Given the description of an element on the screen output the (x, y) to click on. 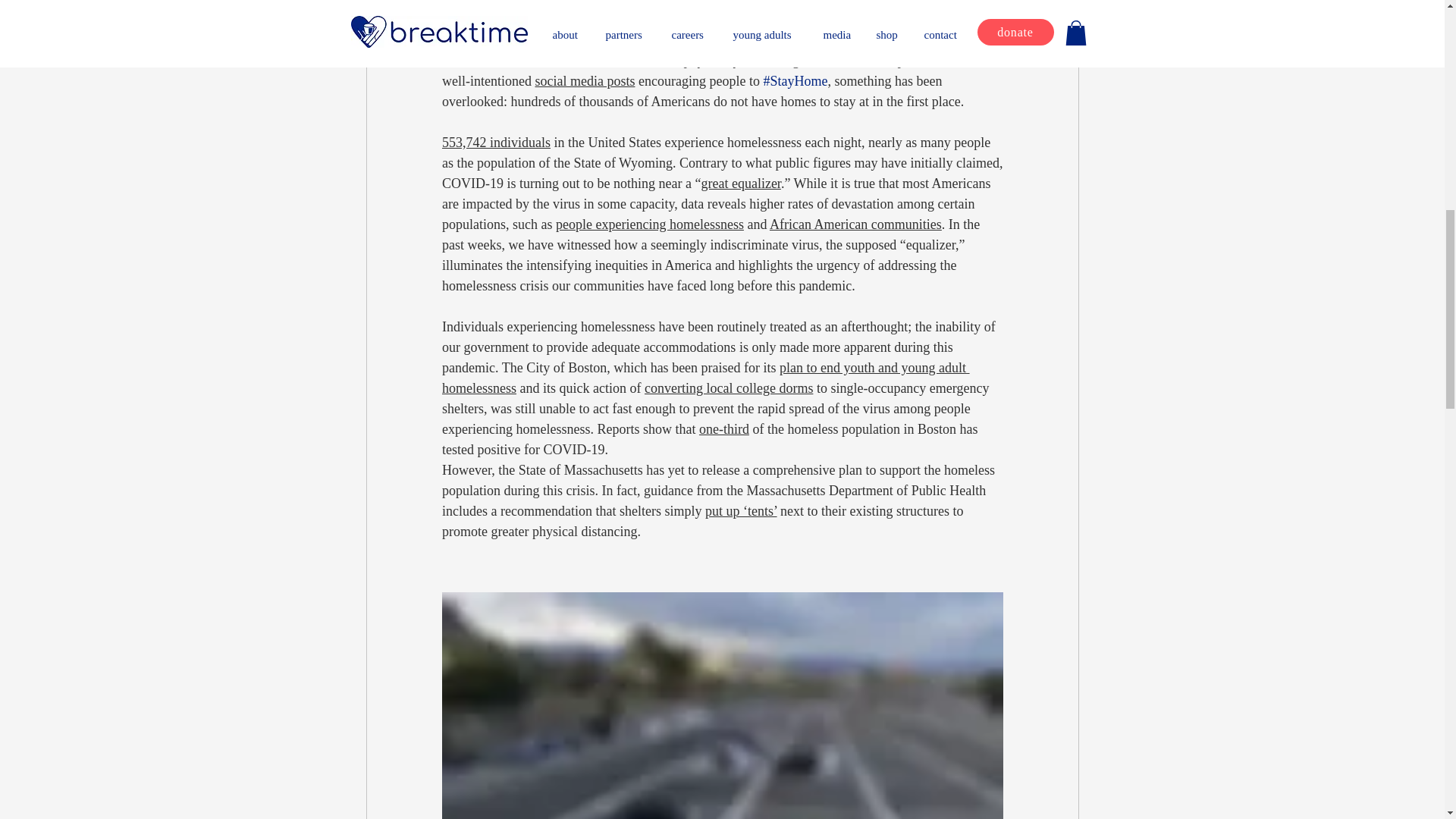
44 states (535, 39)
Breaktime (752, 3)
social media posts (584, 80)
